Given the description of an element on the screen output the (x, y) to click on. 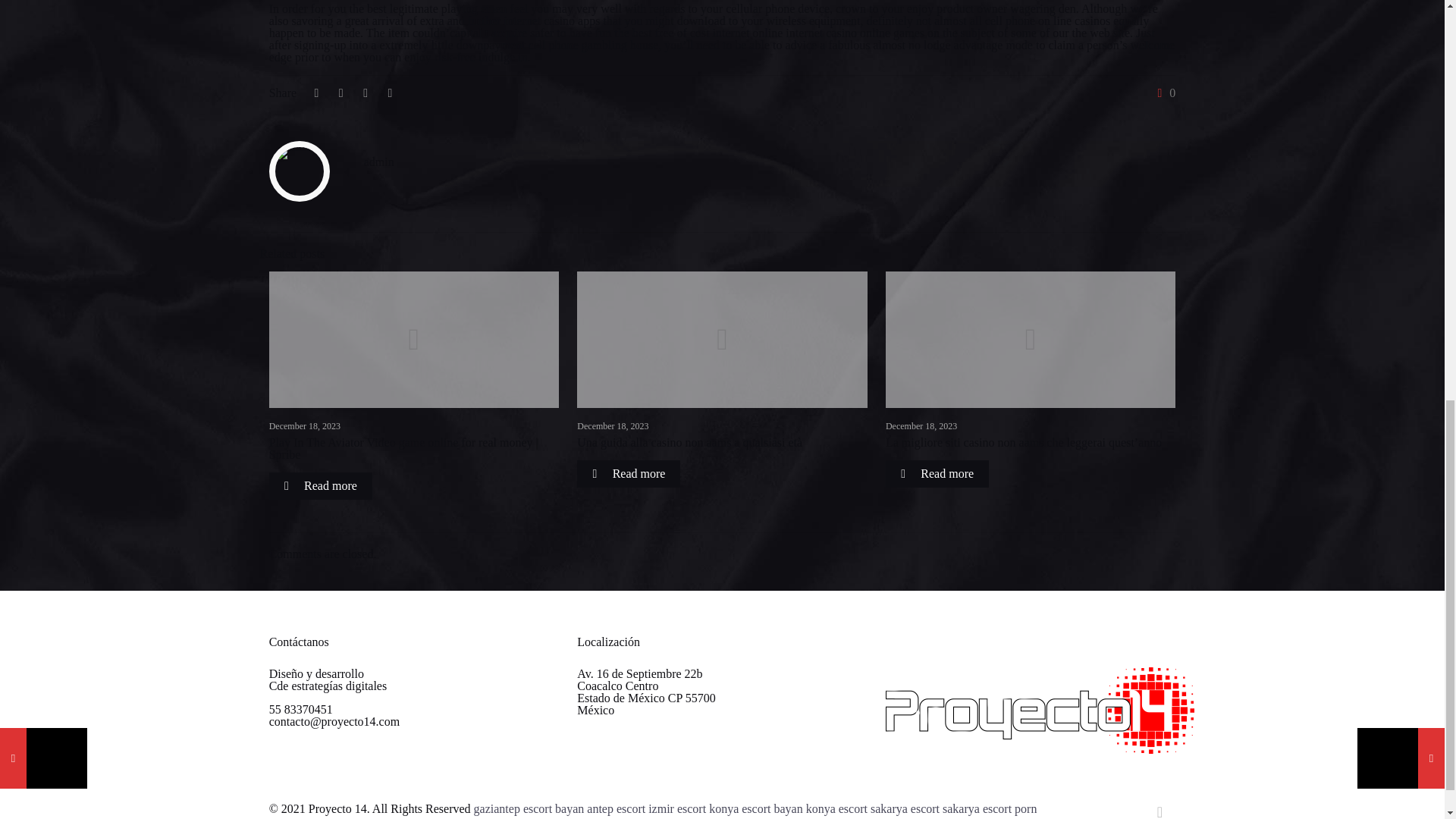
sakarya escort (976, 808)
konya escort (836, 808)
antep escort (615, 808)
izmir escort (676, 808)
porn (1025, 808)
porn (1025, 808)
Read more (627, 473)
gaziantep escort bayan (529, 808)
0 (1162, 92)
Read more (320, 485)
